Given the description of an element on the screen output the (x, y) to click on. 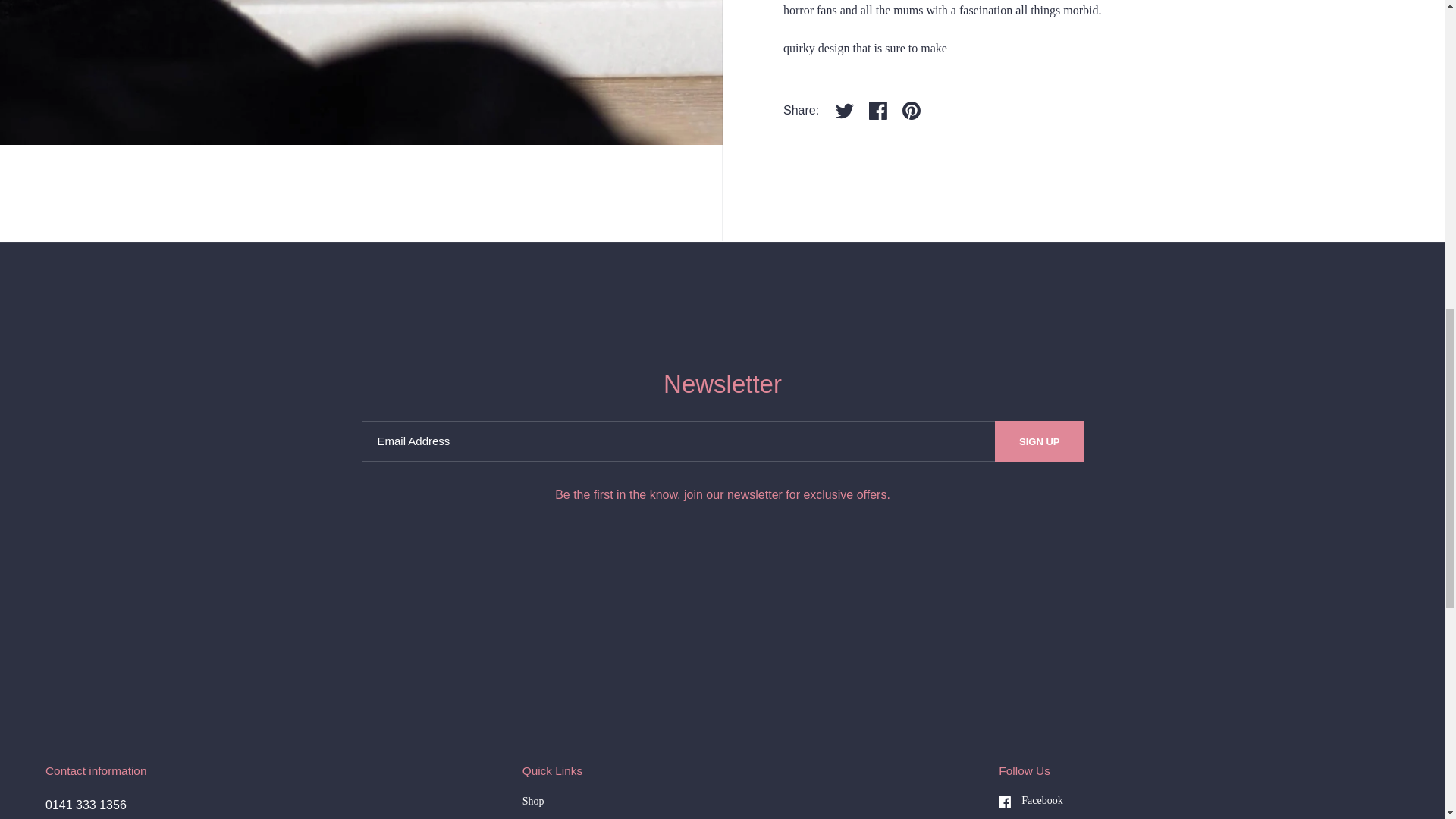
SIGN UP (1039, 441)
Share on pinterest (911, 110)
Share on facebook (878, 110)
